Given the description of an element on the screen output the (x, y) to click on. 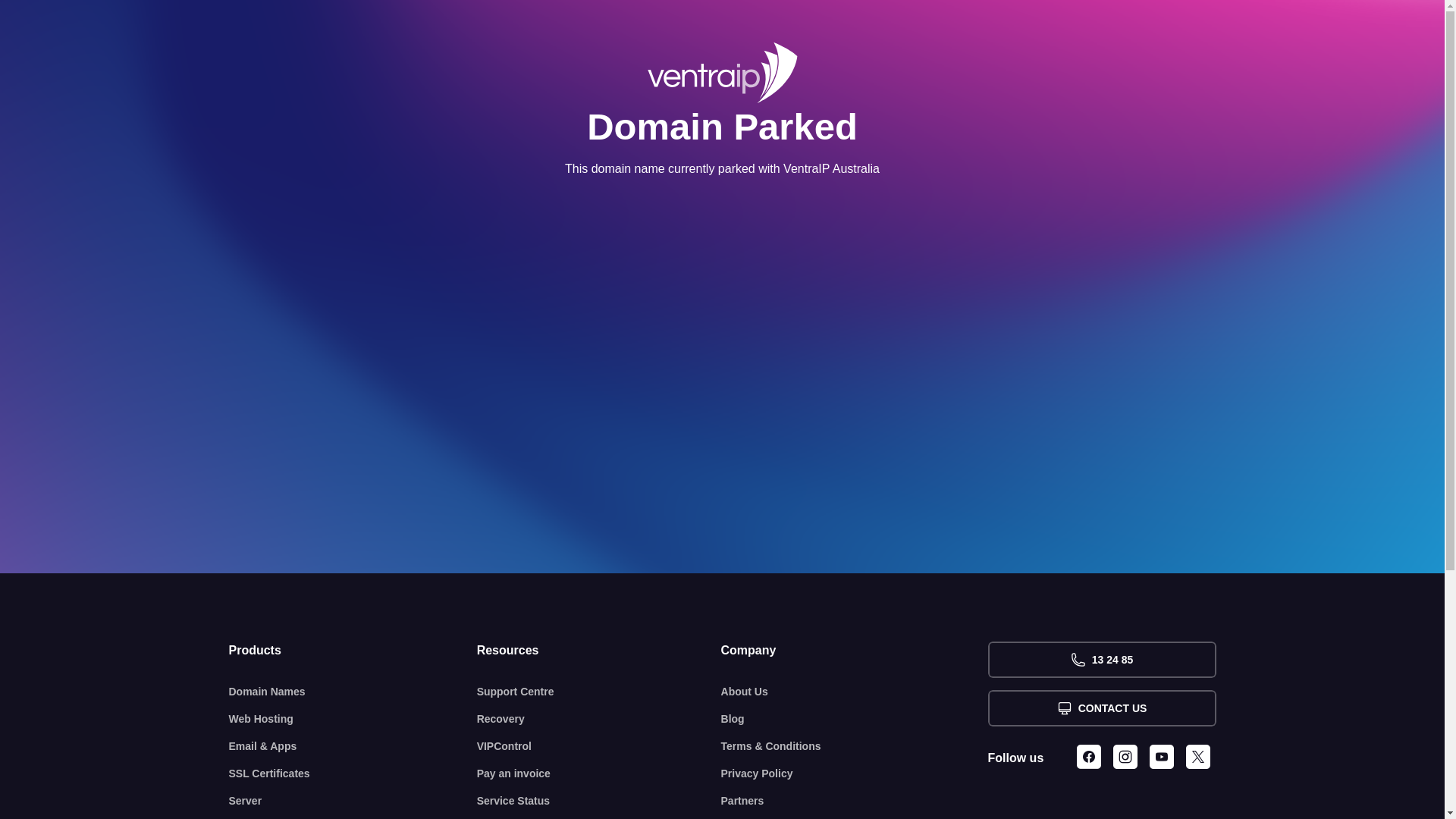
Service Status Element type: text (598, 800)
Partners Element type: text (854, 800)
Terms & Conditions Element type: text (854, 745)
Server Element type: text (352, 800)
Pay an invoice Element type: text (598, 773)
Email & Apps Element type: text (352, 745)
Domain Names Element type: text (352, 691)
Web Hosting Element type: text (352, 718)
VIPControl Element type: text (598, 745)
Privacy Policy Element type: text (854, 773)
CONTACT US Element type: text (1101, 708)
Recovery Element type: text (598, 718)
Support Centre Element type: text (598, 691)
SSL Certificates Element type: text (352, 773)
Blog Element type: text (854, 718)
About Us Element type: text (854, 691)
13 24 85 Element type: text (1101, 659)
